Given the description of an element on the screen output the (x, y) to click on. 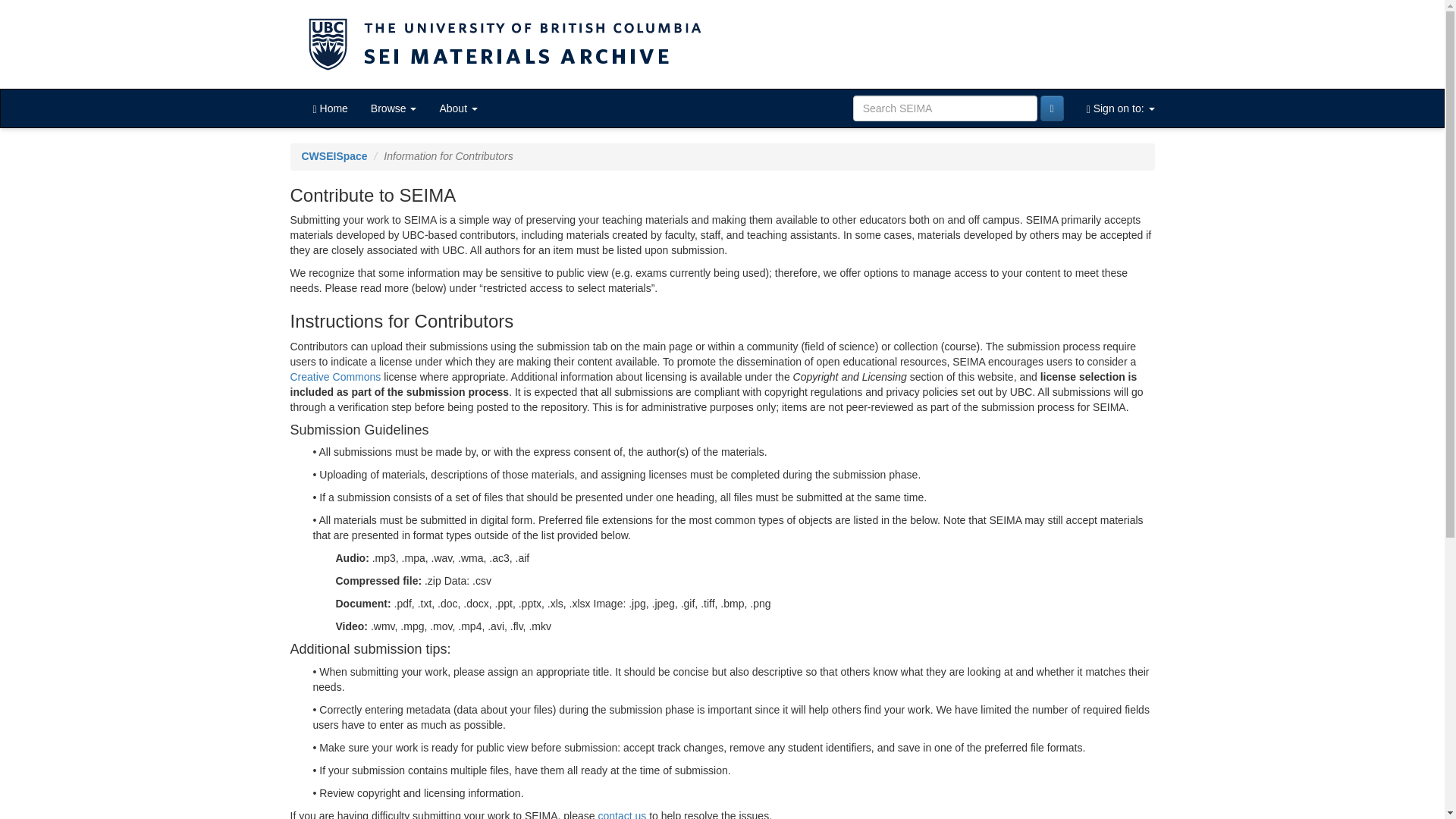
Home (330, 108)
CWSEISpace (334, 155)
Sign on to: (1120, 108)
contact us (621, 814)
About (457, 108)
Browse (393, 108)
Creative Commons (334, 377)
SEI MATERIALS ARCHIVE (721, 44)
